Given the description of an element on the screen output the (x, y) to click on. 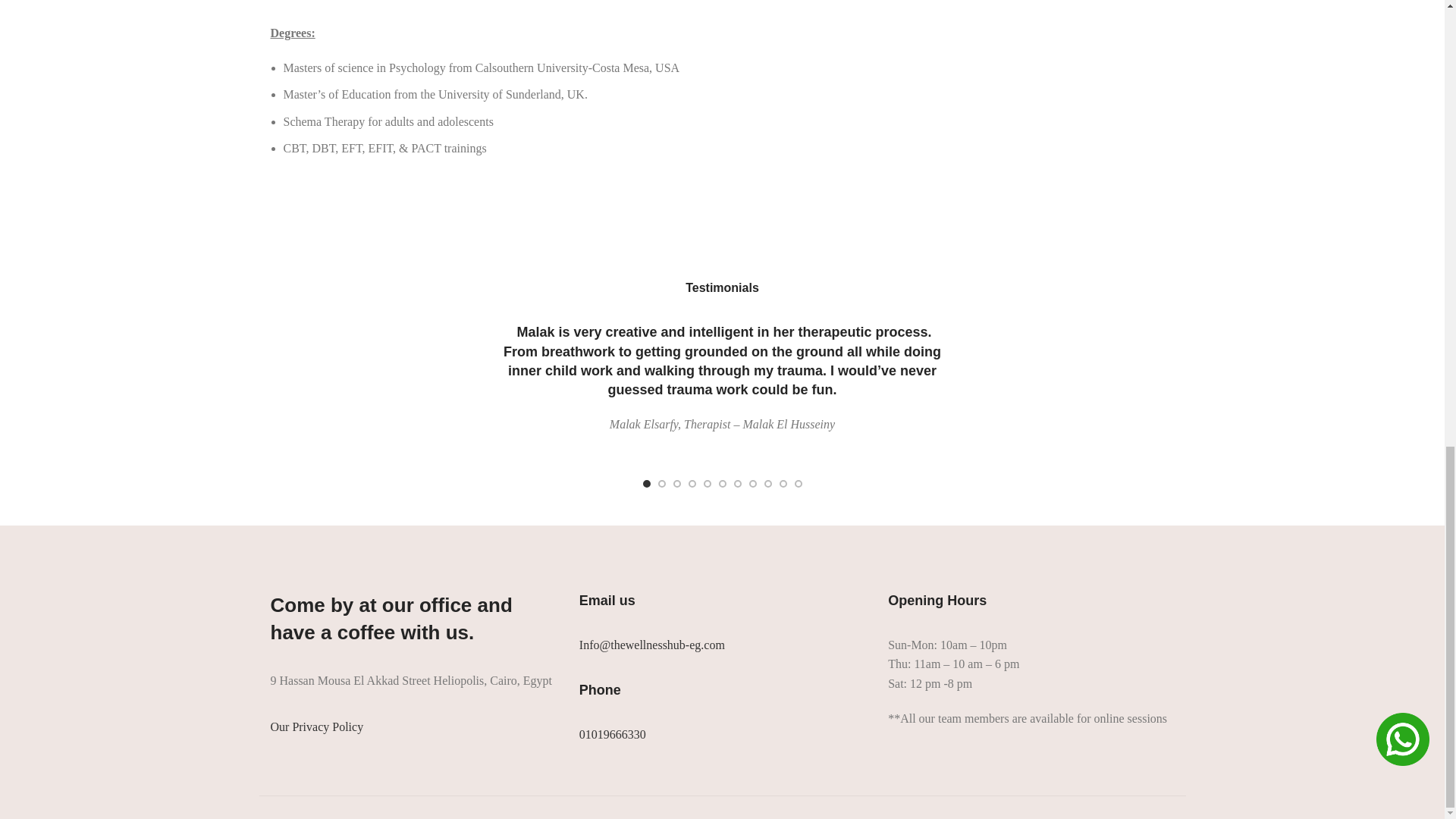
01019666330 (612, 734)
Our Privacy Policy (315, 726)
